Given the description of an element on the screen output the (x, y) to click on. 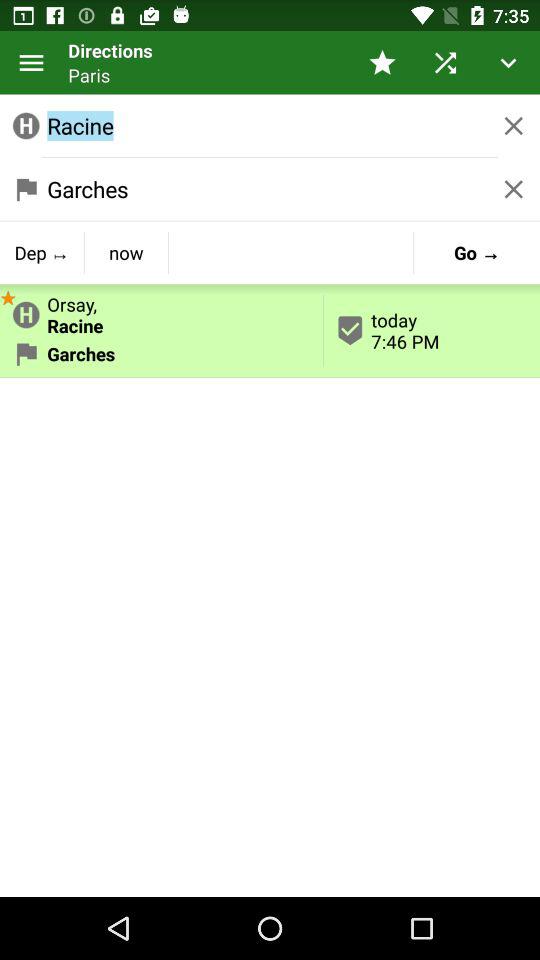
launch item above the garches icon (161, 311)
